Given the description of an element on the screen output the (x, y) to click on. 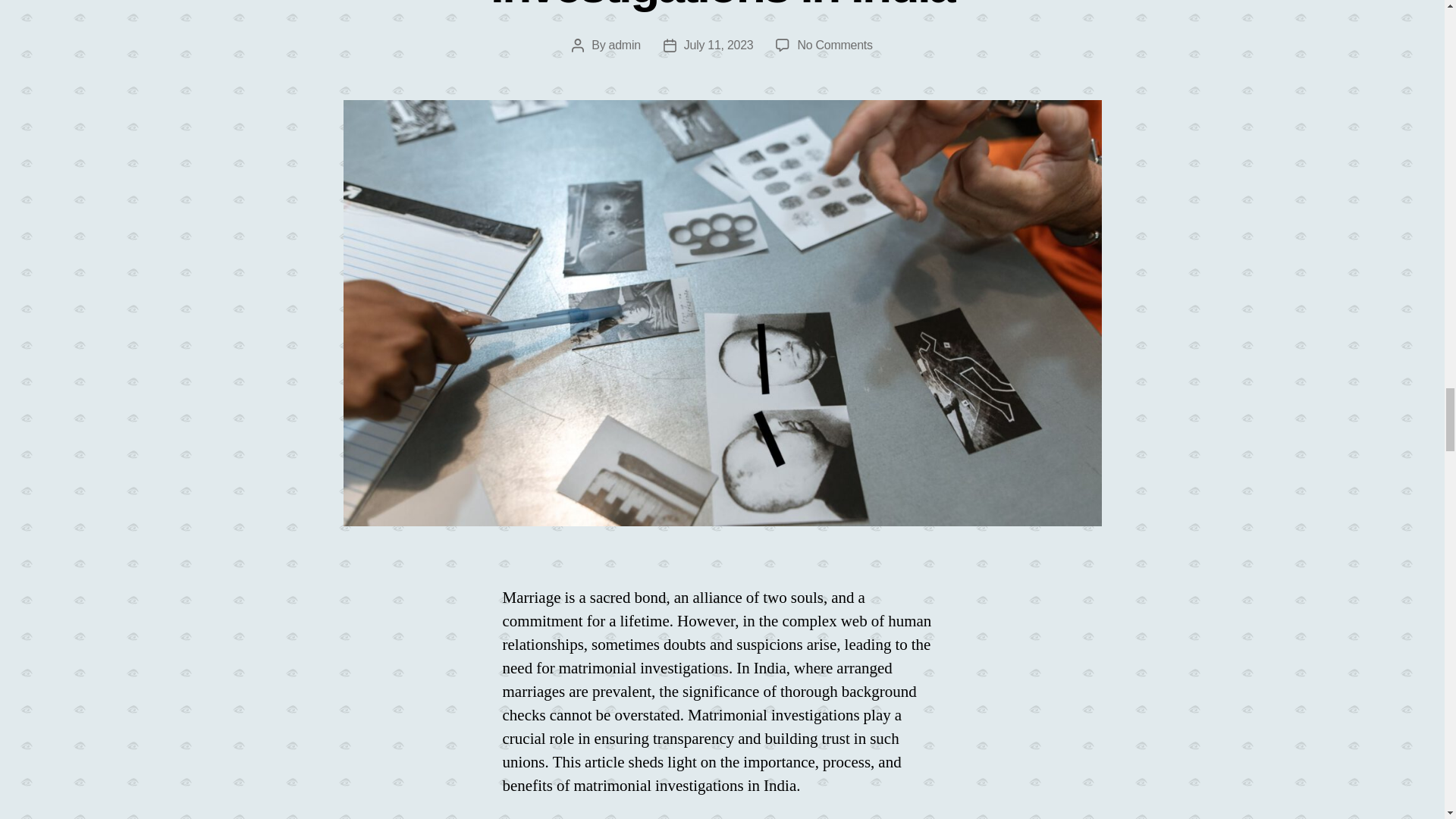
Unveiling the Truth: Matrimonial Investigations in India (722, 6)
admin (624, 44)
